Given the description of an element on the screen output the (x, y) to click on. 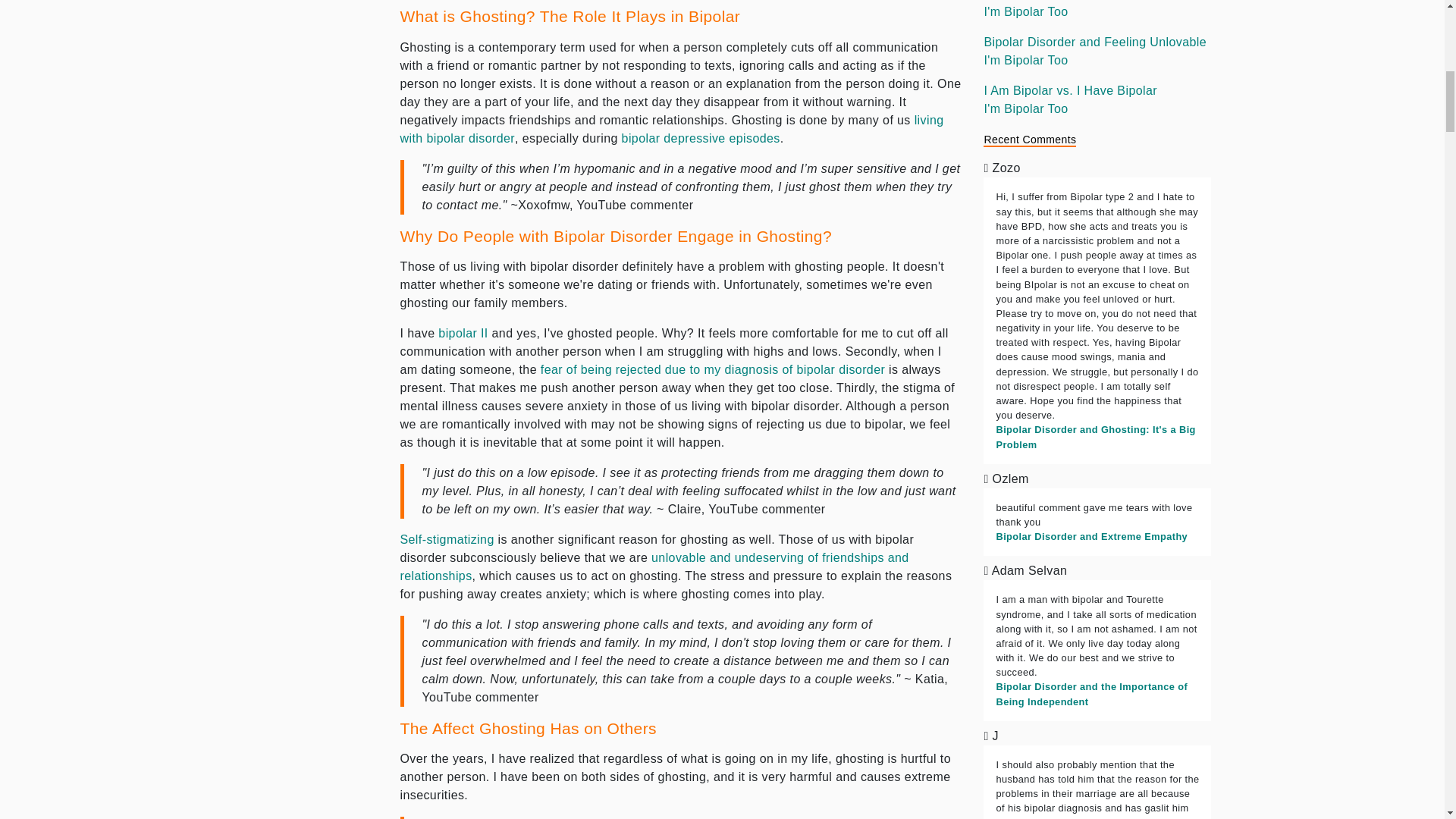
Signs of Self-Stigma: Do You Stigmatize Yourself? (447, 539)
Bipolar Disorder and Feeling Unlovable (654, 566)
What Does a Bipolar Depressive Episode Feel Like? (700, 137)
Living with Bipolar Disorder: You Are Not Alone (671, 128)
What is Bipolar 2? (462, 332)
Fear of Abandonment Due to Mental Illness (712, 369)
